Given the description of an element on the screen output the (x, y) to click on. 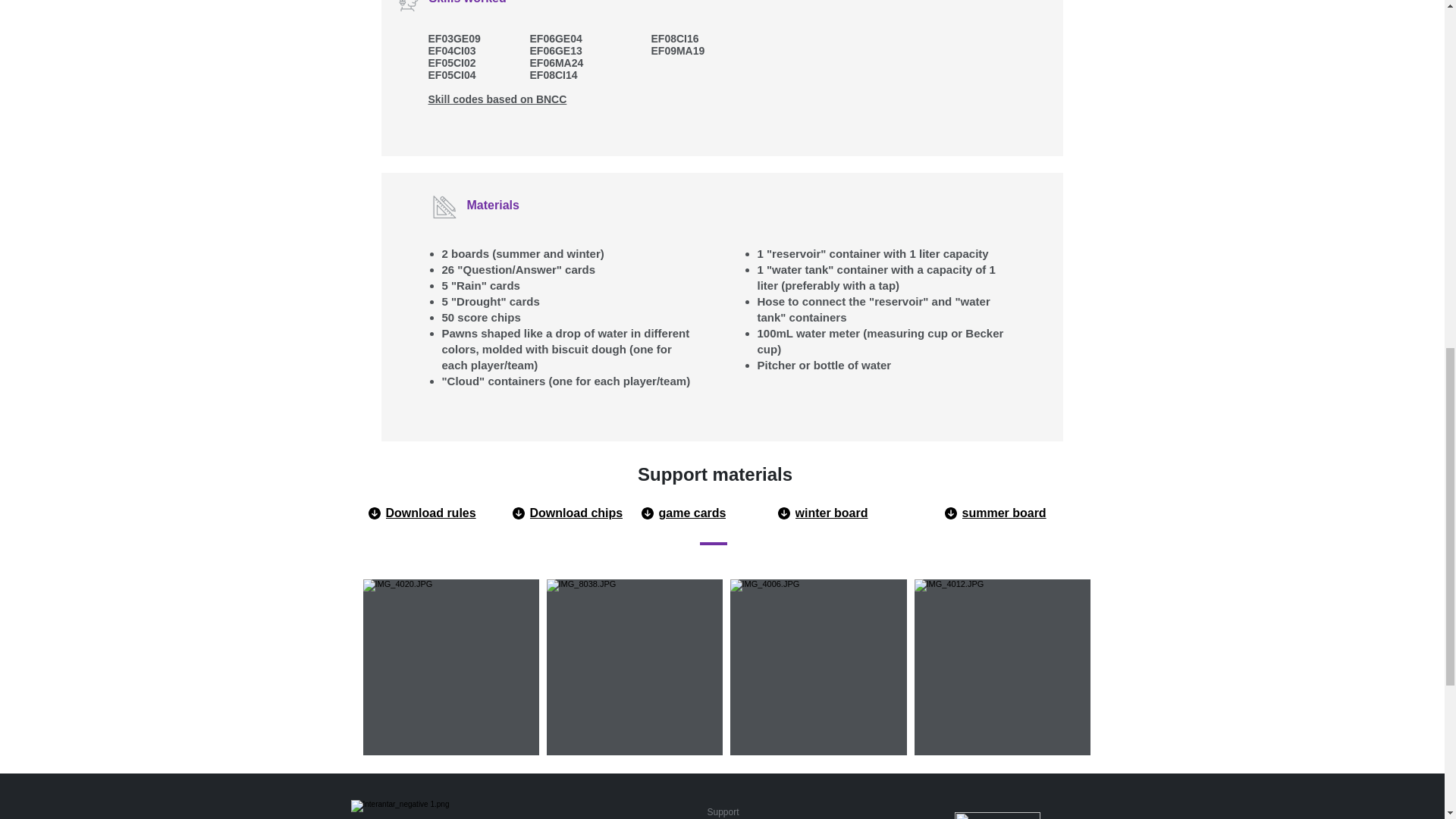
Download rules (445, 513)
game cards (718, 513)
Download chips (590, 513)
summer board (1010, 513)
winter board (855, 513)
